Given the description of an element on the screen output the (x, y) to click on. 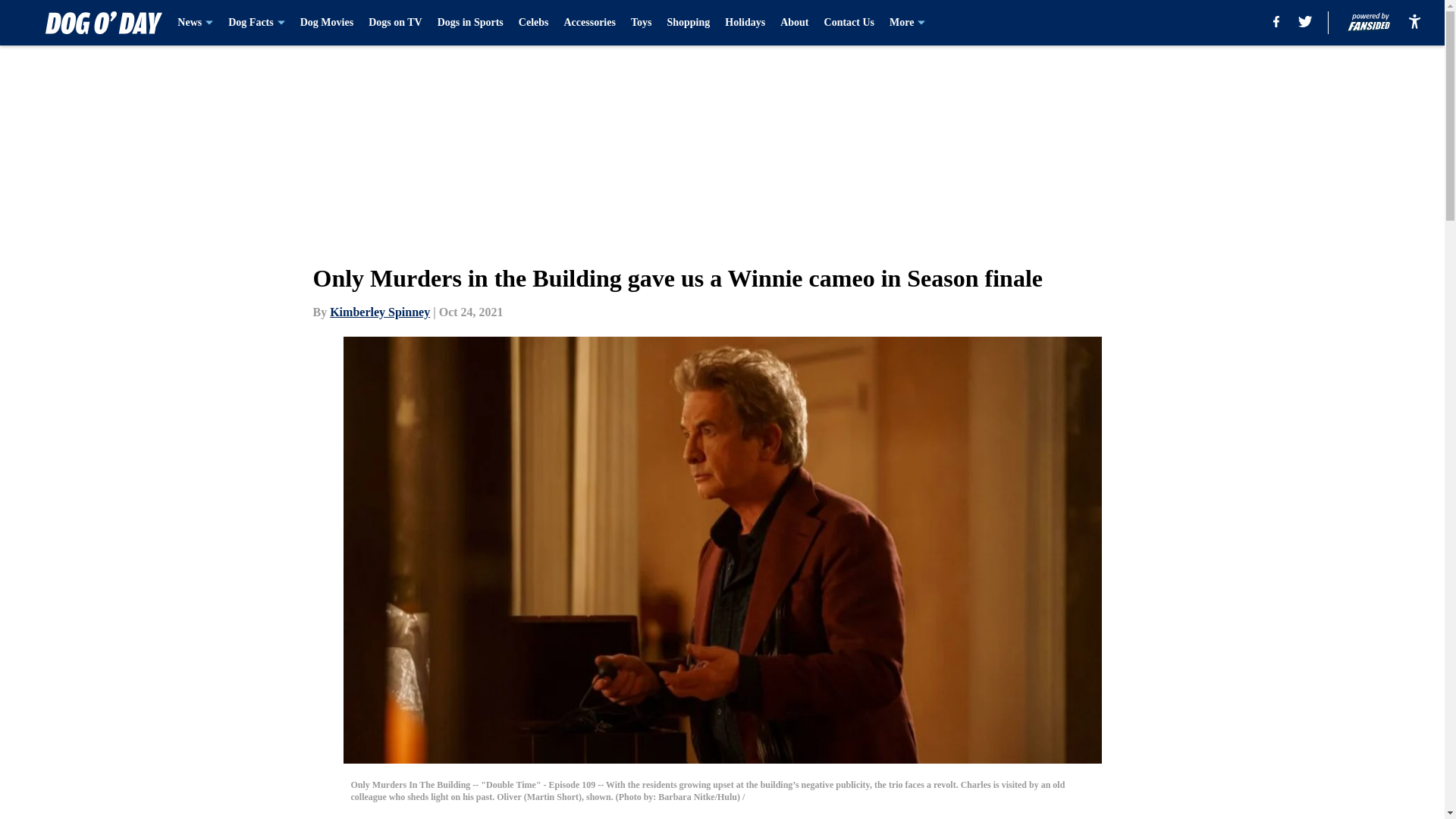
News (194, 22)
Dogs on TV (395, 22)
Accessories (588, 22)
Shopping (688, 22)
Dogs in Sports (470, 22)
Dog Movies (326, 22)
Toys (641, 22)
Celebs (533, 22)
Holidays (745, 22)
Dog Facts (256, 22)
Kimberley Spinney (379, 311)
Contact Us (849, 22)
More (906, 22)
About (794, 22)
